Given the description of an element on the screen output the (x, y) to click on. 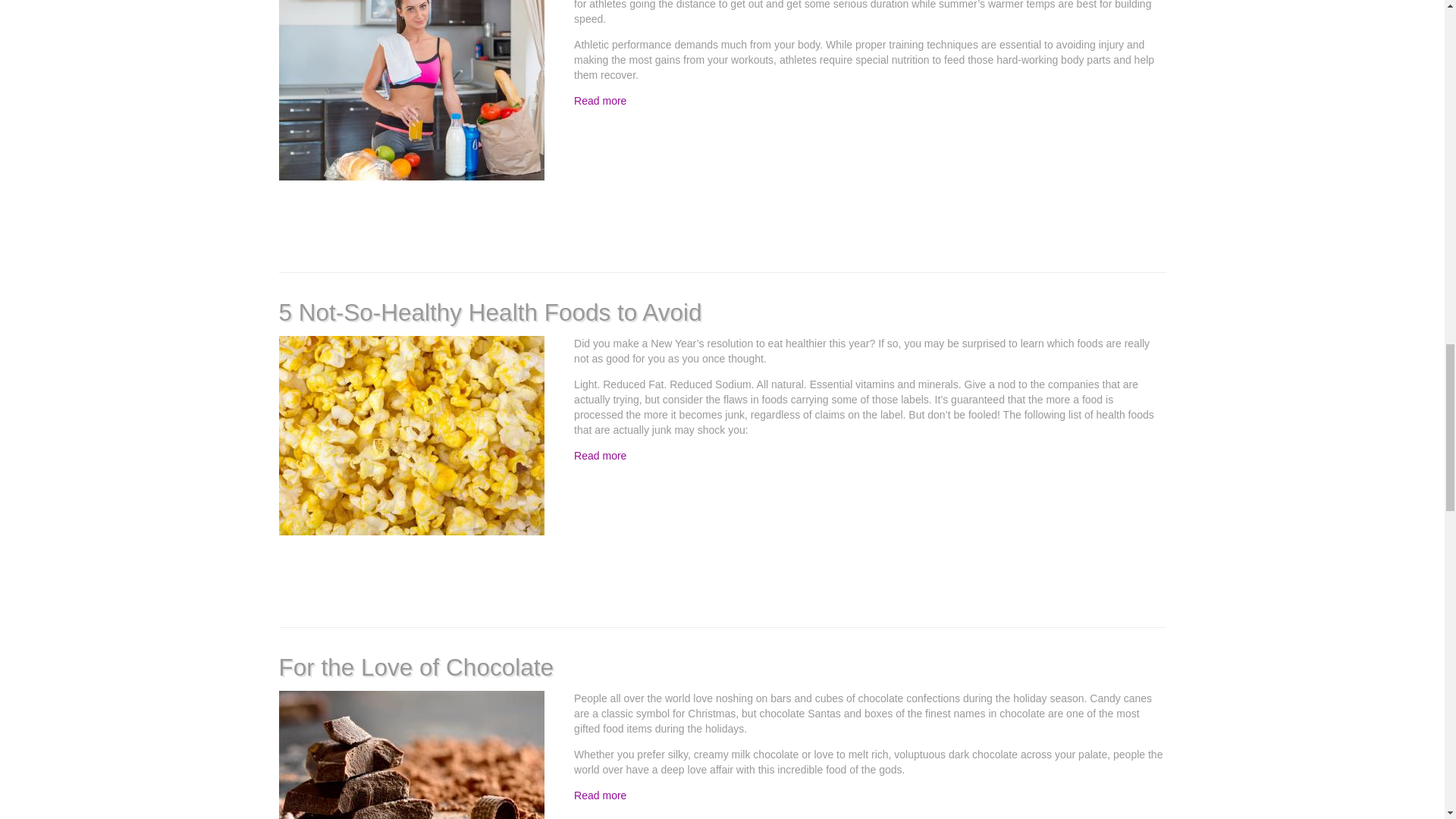
Read more (599, 795)
Read more (599, 101)
Read more (599, 455)
